Given the description of an element on the screen output the (x, y) to click on. 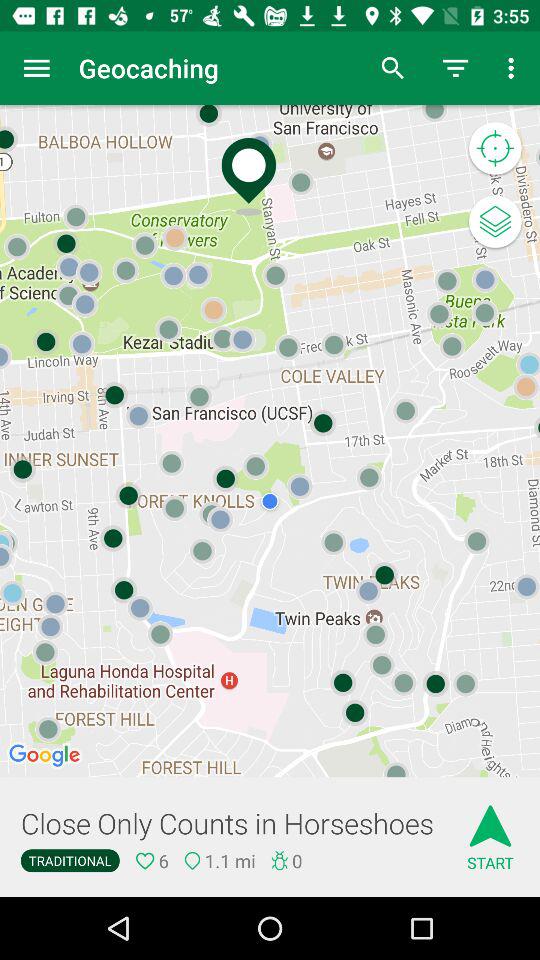
flip until start item (490, 830)
